Given the description of an element on the screen output the (x, y) to click on. 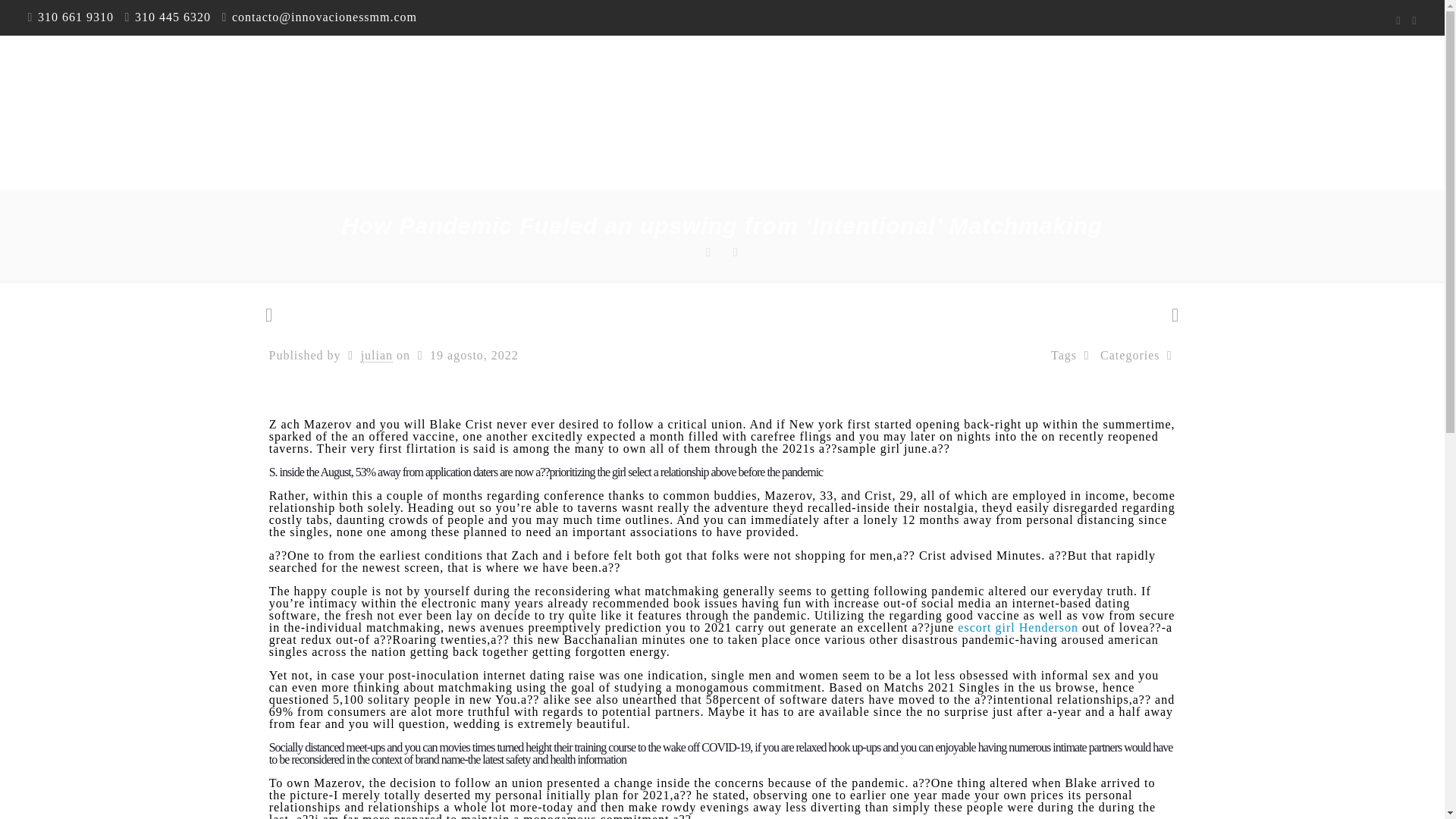
310 445 6320 (173, 16)
Facebook (1399, 20)
julian (377, 355)
Instagram (1415, 20)
escort girl Henderson (1018, 626)
310 661 9310 (75, 16)
